Given the description of an element on the screen output the (x, y) to click on. 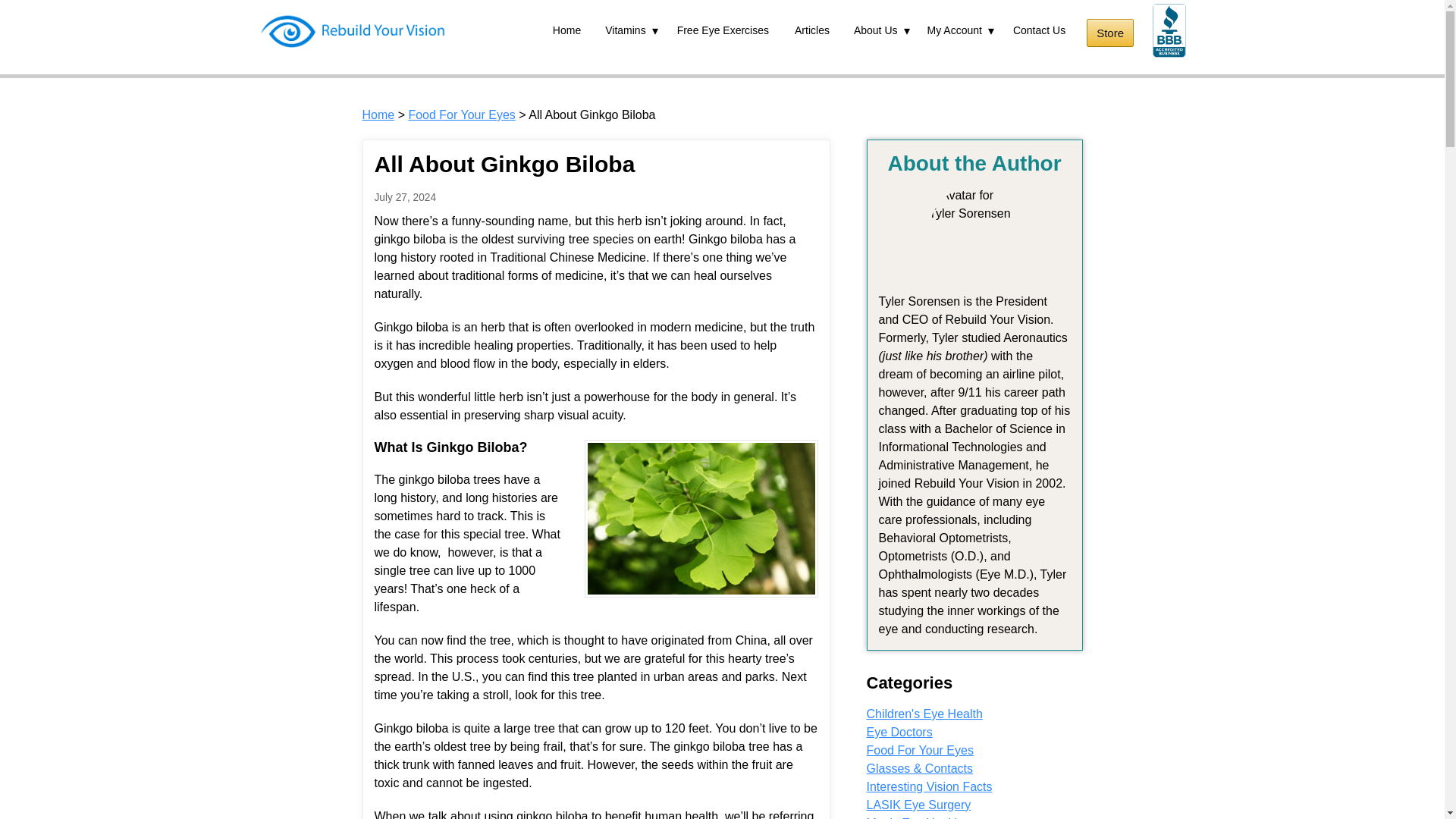
Home (378, 114)
Vitamins (628, 30)
Food For Your Eyes (461, 114)
Gravatar for Tyler Sorensen (974, 231)
Store (1110, 32)
Free Eye Exercises (722, 30)
Contact Us (1039, 30)
About Us (878, 30)
Rebuild Your Vision (352, 30)
Go to Rebuild Your Vision. (378, 114)
Articles (812, 30)
Home (567, 30)
Go to the Food For Your Eyes category archives. (461, 114)
My Account (957, 30)
